Given the description of an element on the screen output the (x, y) to click on. 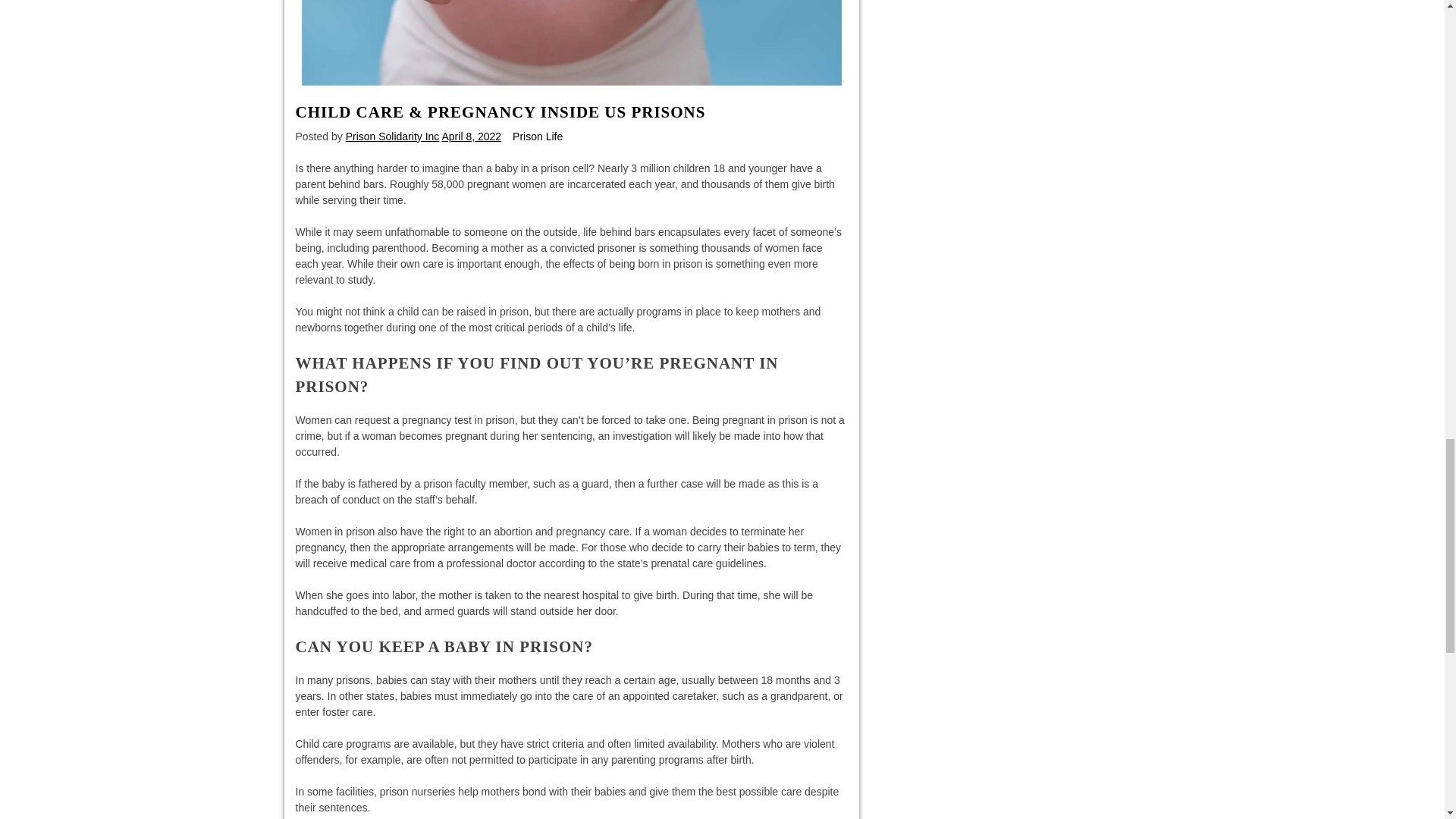
Prison Solidarity Inc (392, 136)
Prison Life (537, 136)
April 8, 2022 (470, 136)
